Given the description of an element on the screen output the (x, y) to click on. 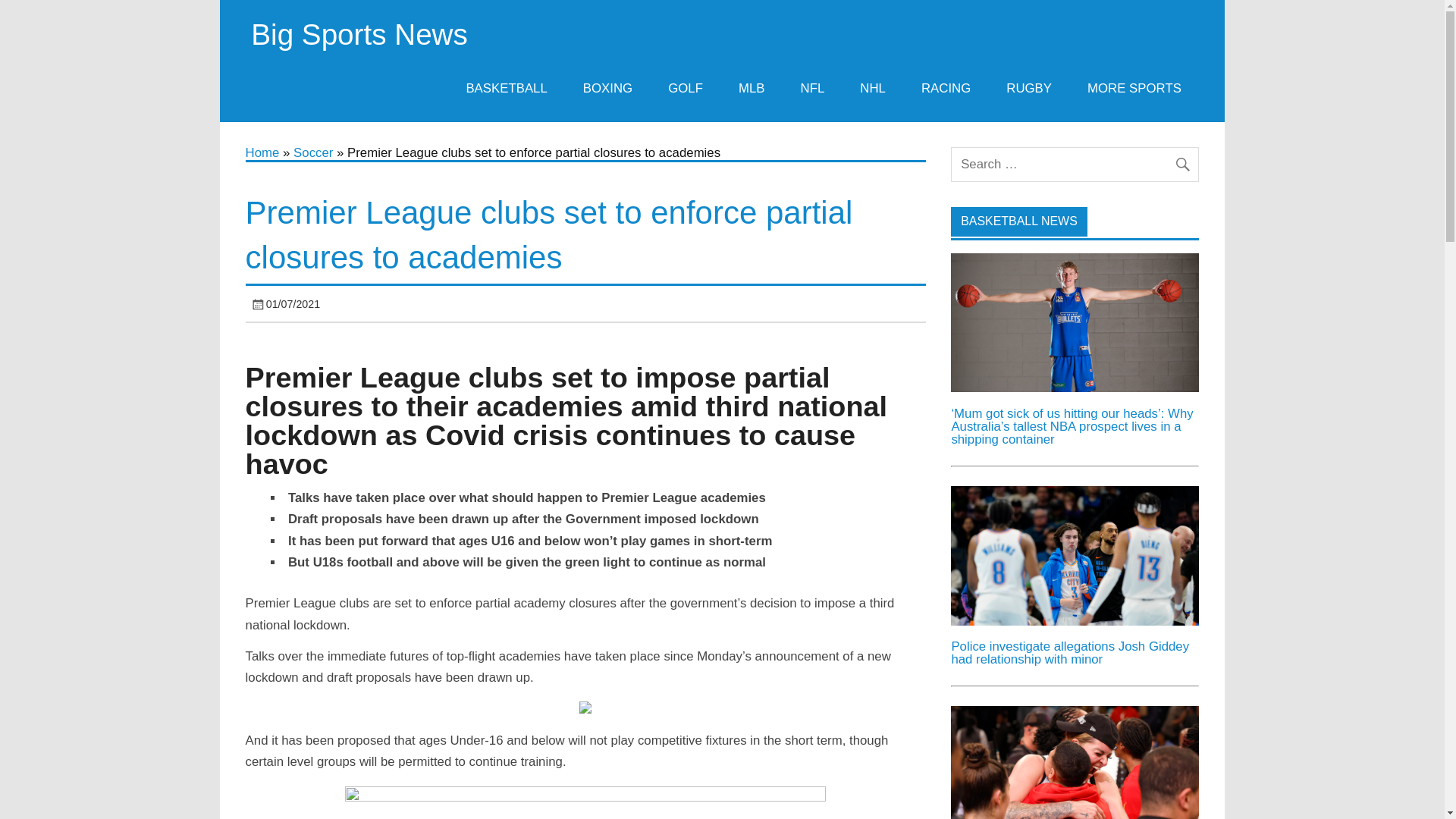
RUGBY (1029, 88)
BOXING (606, 88)
NHL (873, 88)
NFL (813, 88)
RACING (945, 88)
GOLF (685, 88)
BASKETBALL (506, 88)
MORE SPORTS (1134, 88)
MLB (751, 88)
19:47 (293, 304)
